Given the description of an element on the screen output the (x, y) to click on. 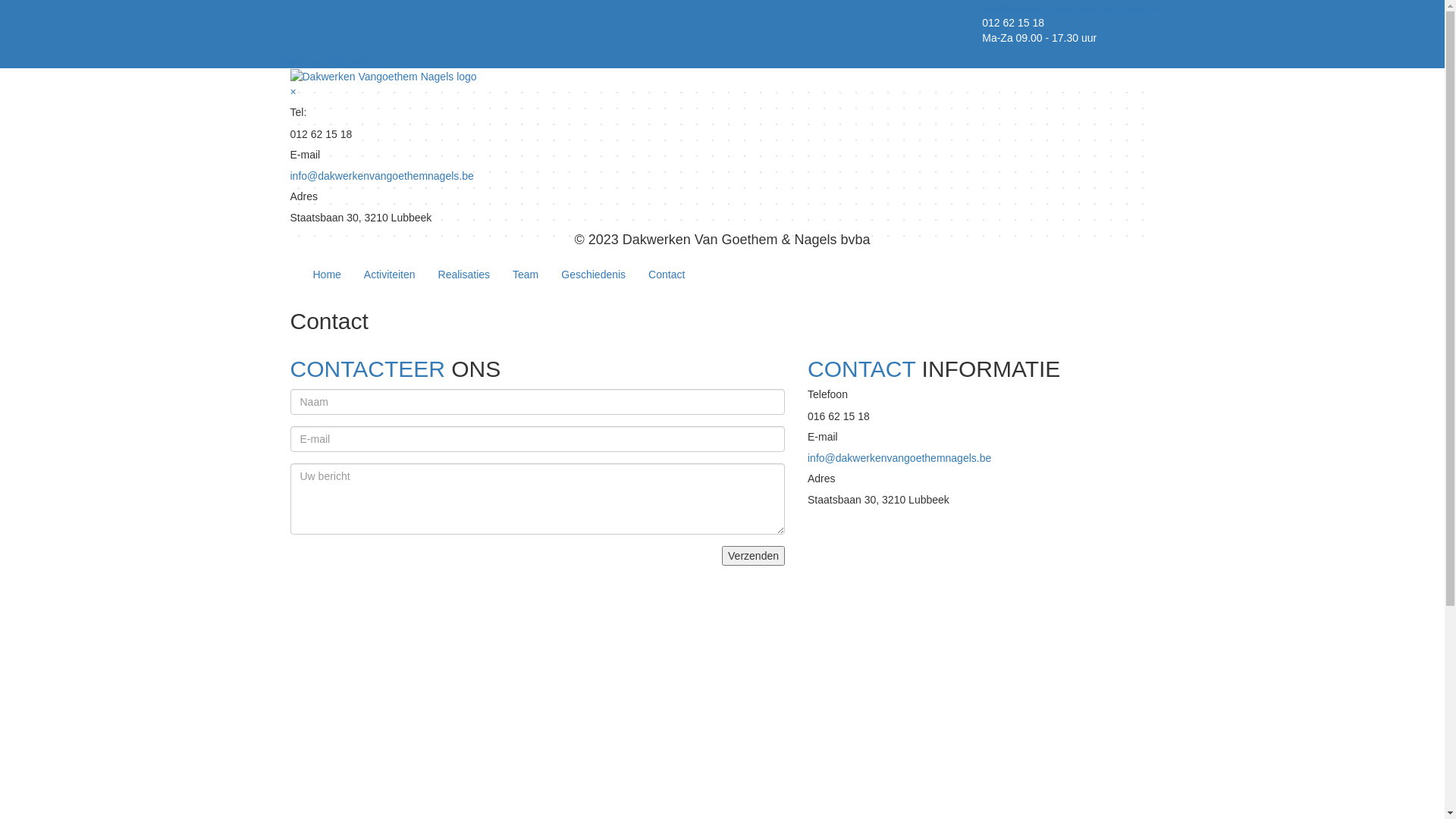
Team Element type: text (525, 274)
Maak een afspraak Element type: text (324, 60)
info@dakwerkenvangoethemnagels.be Element type: text (1073, 7)
info@dakwerkenvangoethemnagels.be Element type: text (381, 175)
Home Element type: text (326, 274)
Contact Element type: text (666, 274)
Realisaties Element type: text (463, 274)
Verzenden Element type: text (752, 555)
Geschiedenis Element type: text (593, 274)
info@dakwerkenvangoethemnagels.be Element type: text (899, 457)
Activiteiten Element type: text (389, 274)
